Given the description of an element on the screen output the (x, y) to click on. 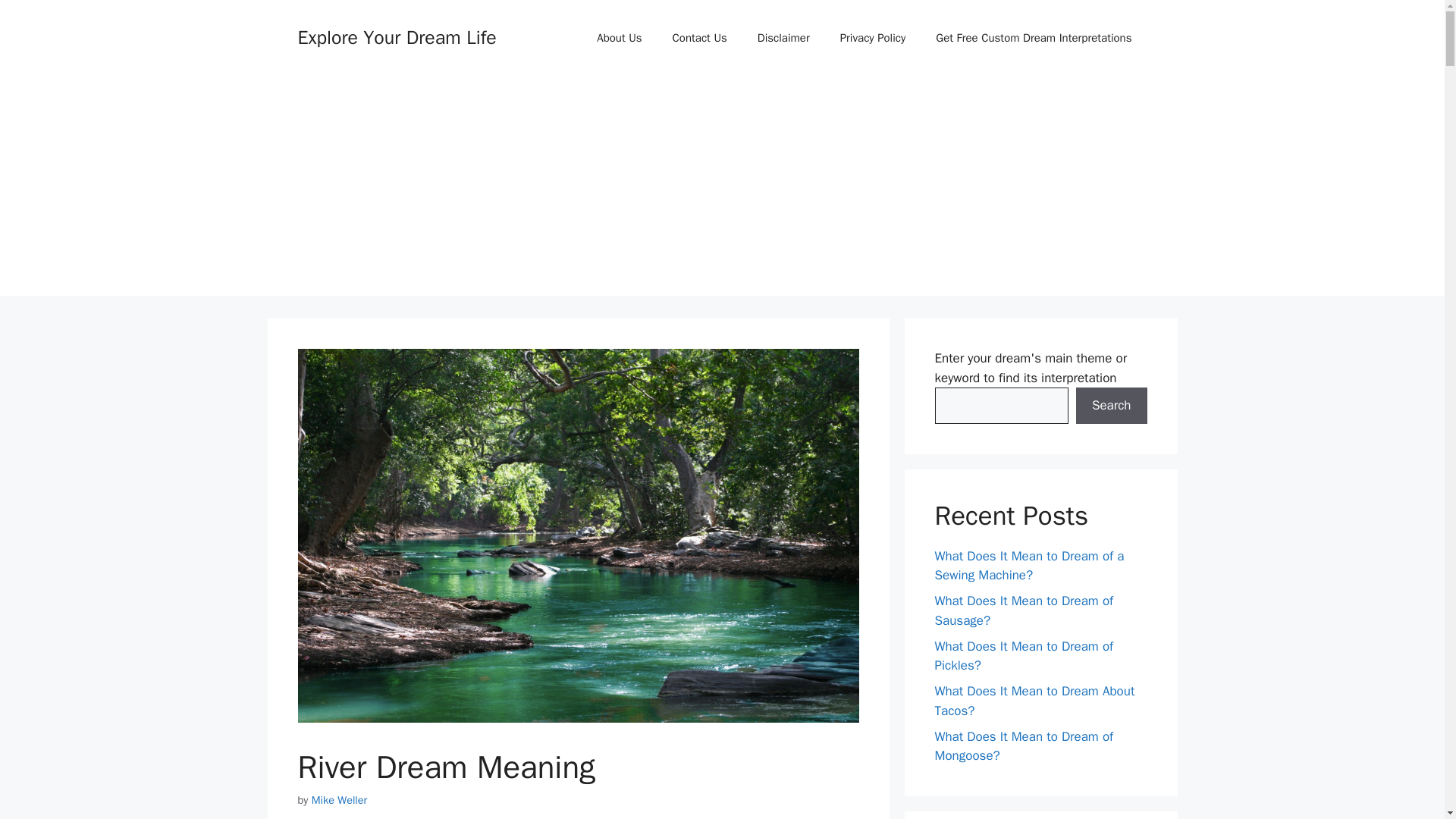
Disclaimer (783, 37)
Mike Weller (339, 799)
Explore Your Dream Life (396, 37)
Contact Us (700, 37)
Privacy Policy (873, 37)
Get Free Custom Dream Interpretations (1033, 37)
View all posts by Mike Weller (339, 799)
About Us (618, 37)
